Given the description of an element on the screen output the (x, y) to click on. 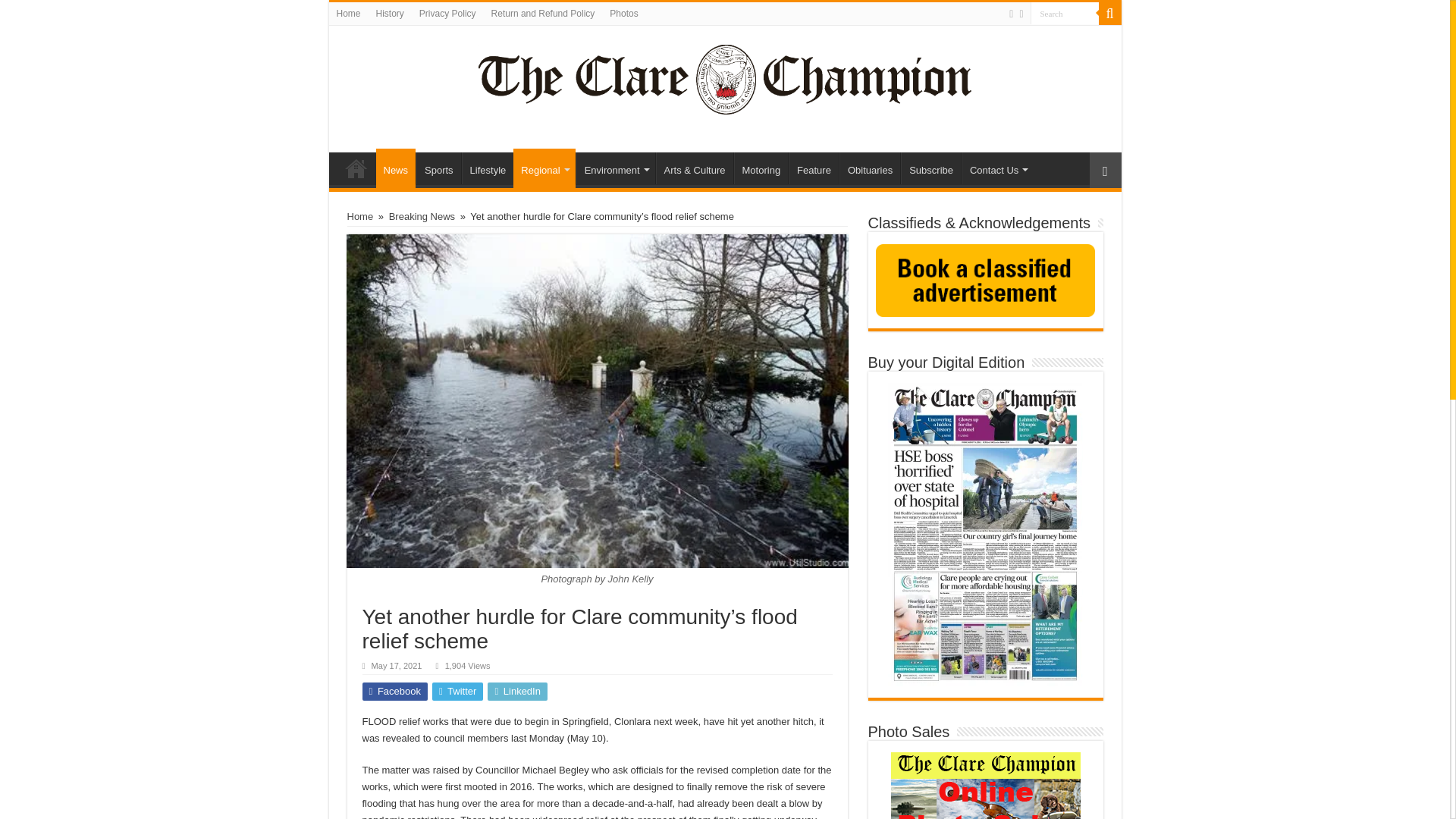
Search (1063, 13)
Search (1109, 13)
Home (348, 13)
Return and Refund Policy (542, 13)
Search (1063, 13)
Privacy Policy (447, 13)
The Clare Champion (725, 76)
Photos (623, 13)
Home (355, 168)
History (390, 13)
